Given the description of an element on the screen output the (x, y) to click on. 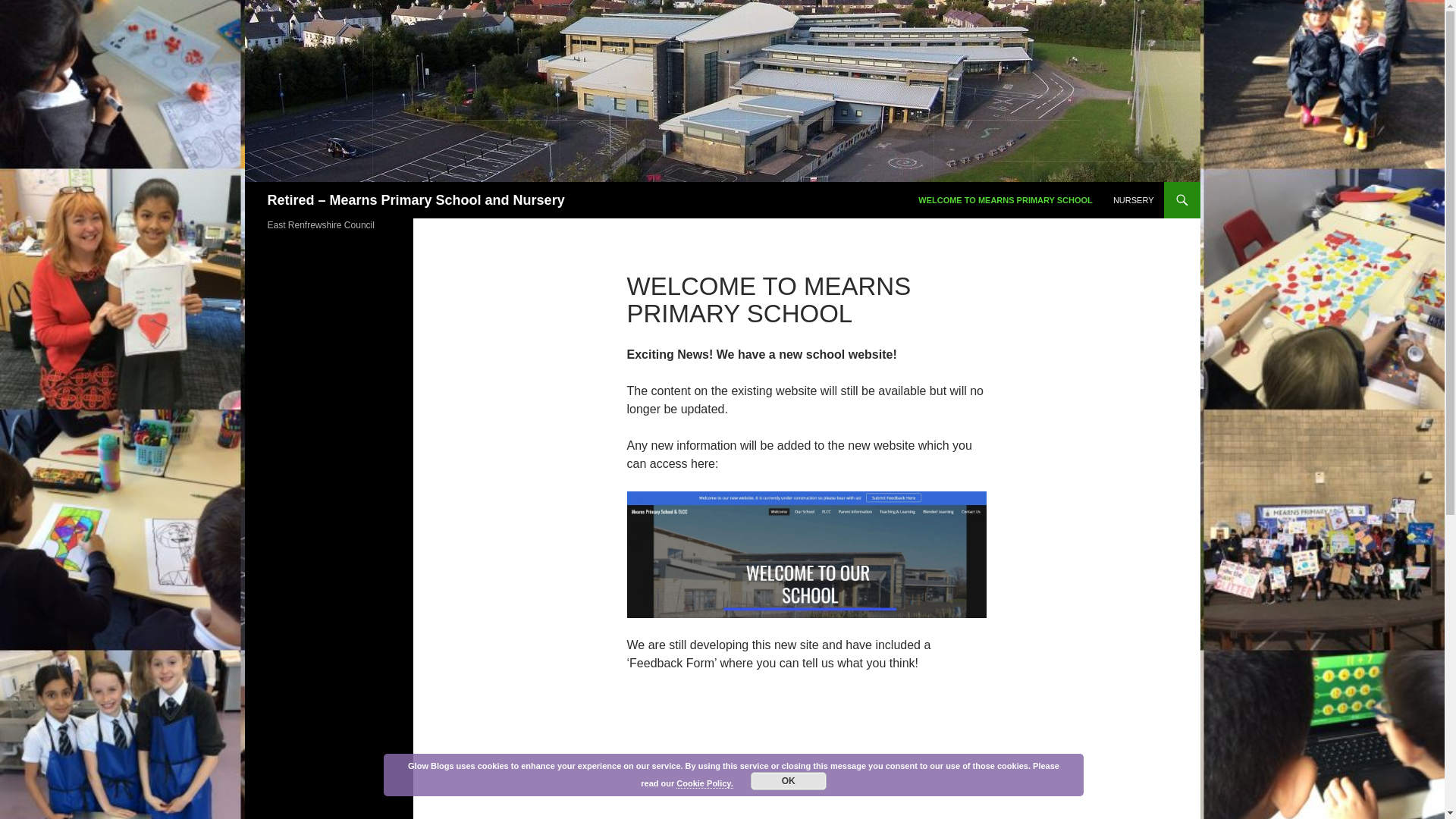
Cookie Policy. (704, 782)
OK (789, 781)
WELCOME TO MEARNS PRIMARY SCHOOL (1005, 199)
NURSERY (1133, 199)
